Given the description of an element on the screen output the (x, y) to click on. 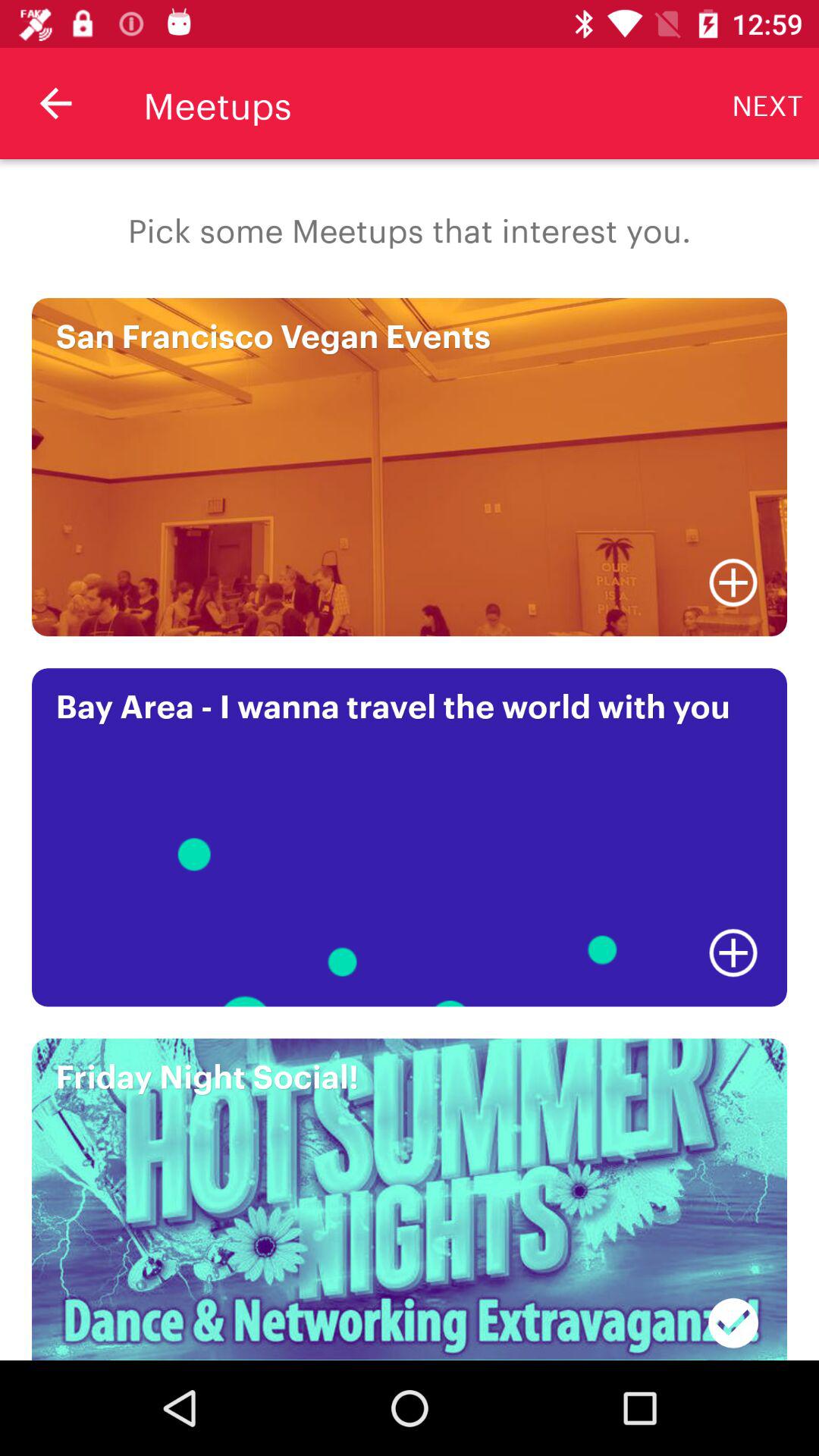
tap icon to the left of meetups item (55, 103)
